Given the description of an element on the screen output the (x, y) to click on. 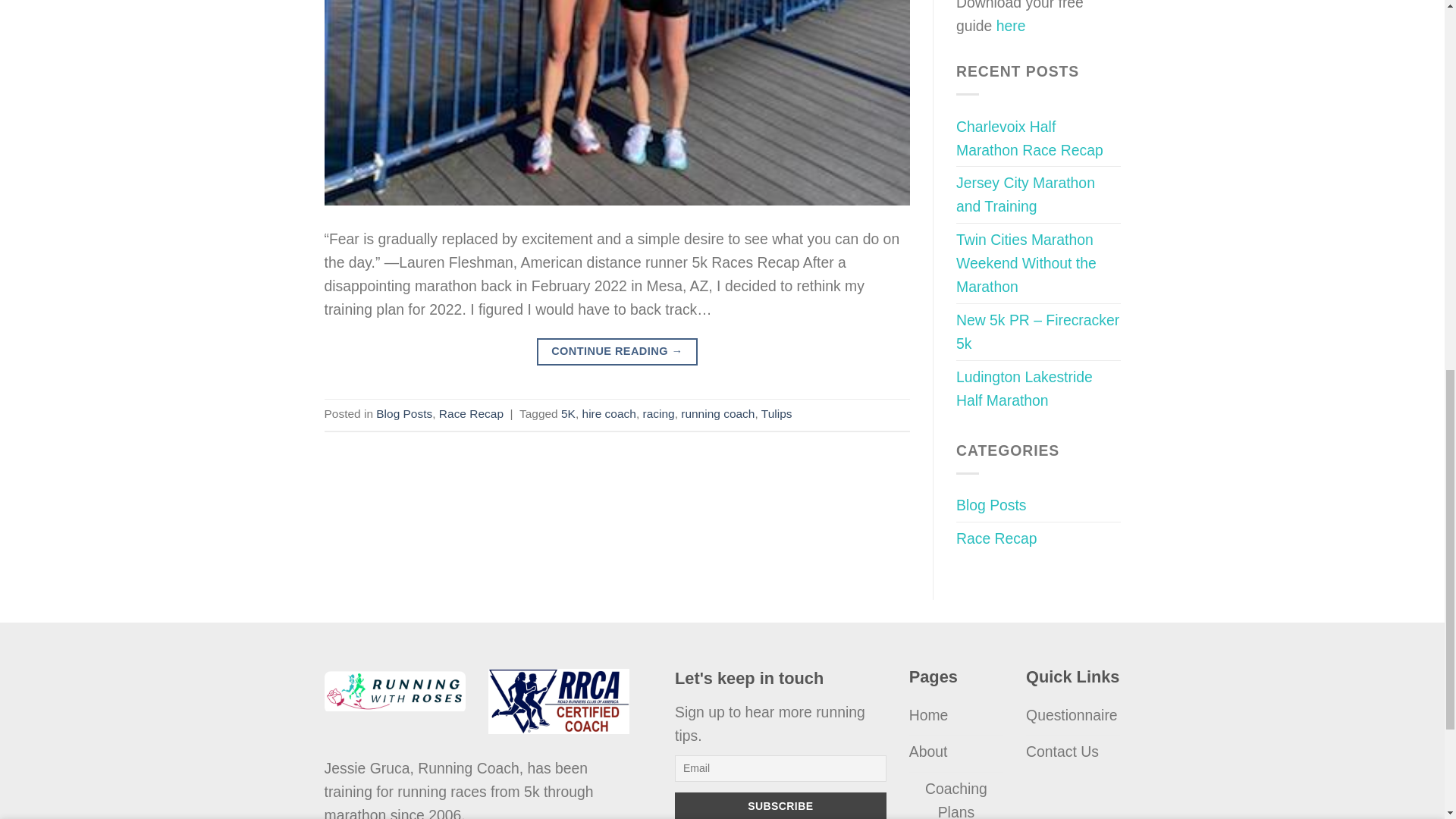
Tulips (776, 413)
Race Recap (471, 413)
running coach (717, 413)
5K (567, 413)
Blog Posts (403, 413)
hire coach (609, 413)
racing (659, 413)
here (1010, 25)
Charlevoix Half Marathon Race Recap (1038, 138)
Subscribe (780, 805)
